Given the description of an element on the screen output the (x, y) to click on. 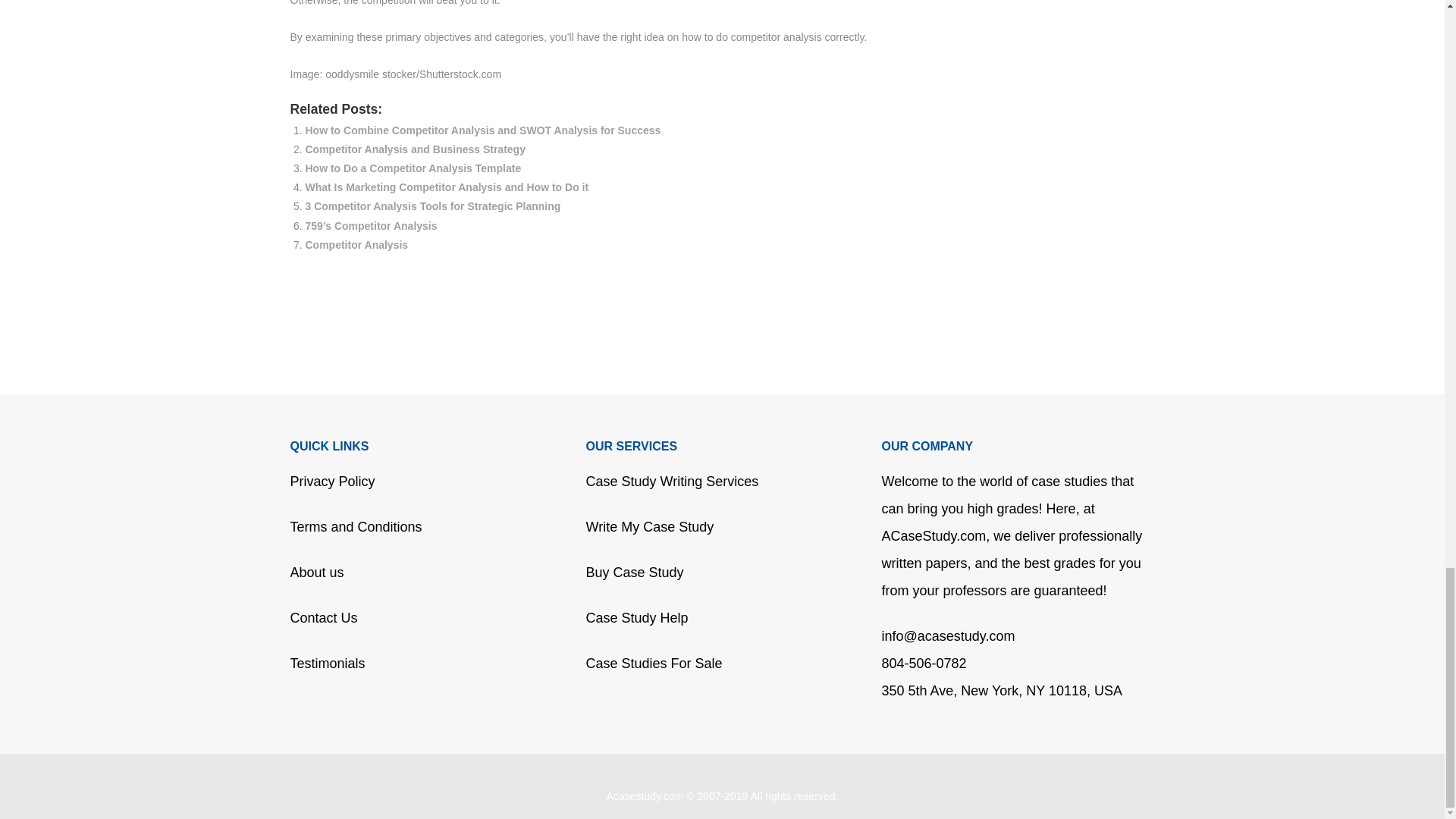
How to Do a Competitor Analysis Template (412, 168)
What Is Marketing Competitor Analysis and How to Do it (446, 186)
3 Competitor Analysis Tools for Strategic Planning (432, 205)
Competitor Analysis and Business Strategy (414, 149)
Competitor Analysis (355, 244)
